Given the description of an element on the screen output the (x, y) to click on. 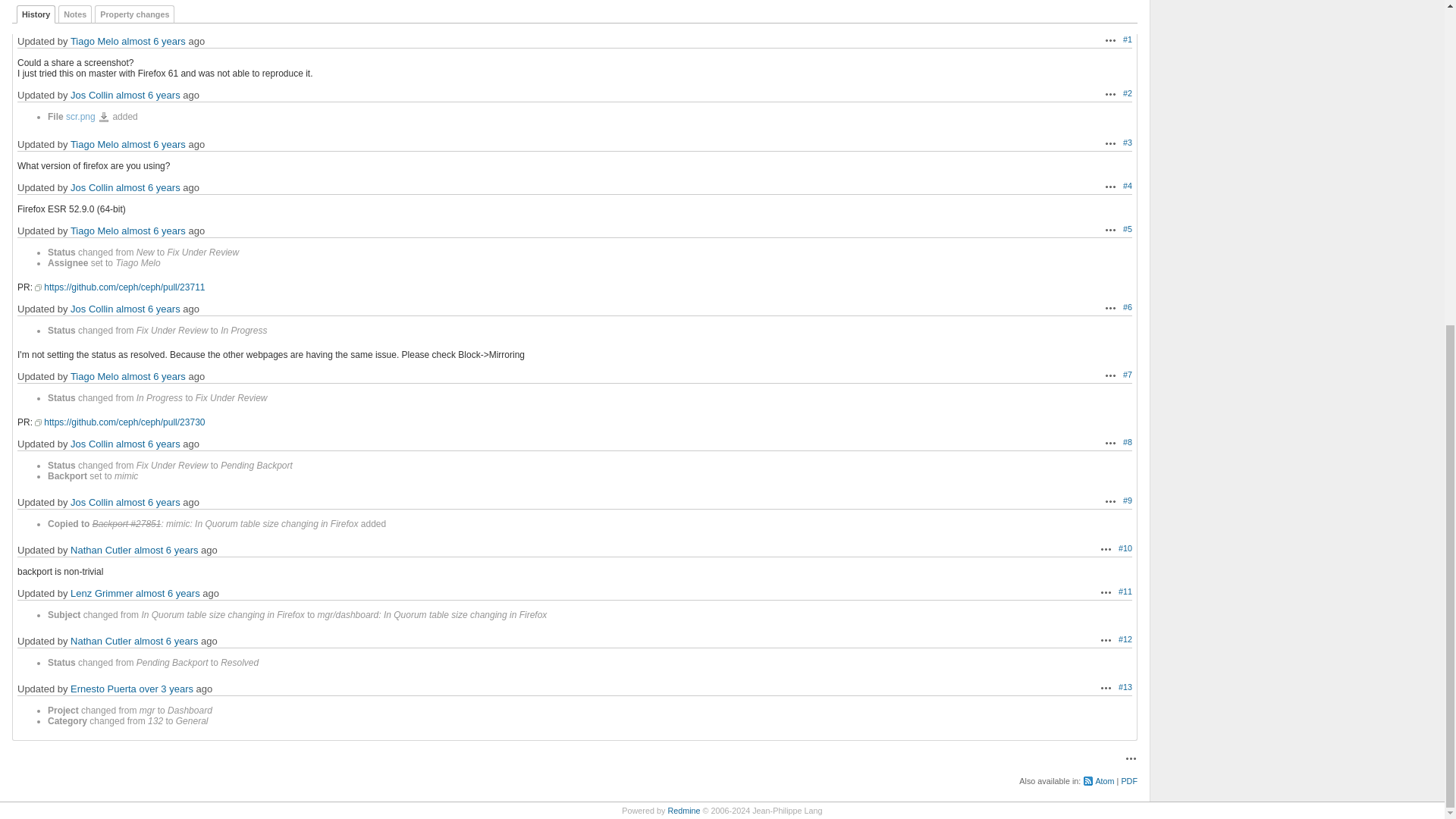
Actions (1110, 93)
Actions (1110, 143)
Actions (1110, 186)
Actions (1110, 229)
Download (103, 117)
Actions (1110, 39)
